Given the description of an element on the screen output the (x, y) to click on. 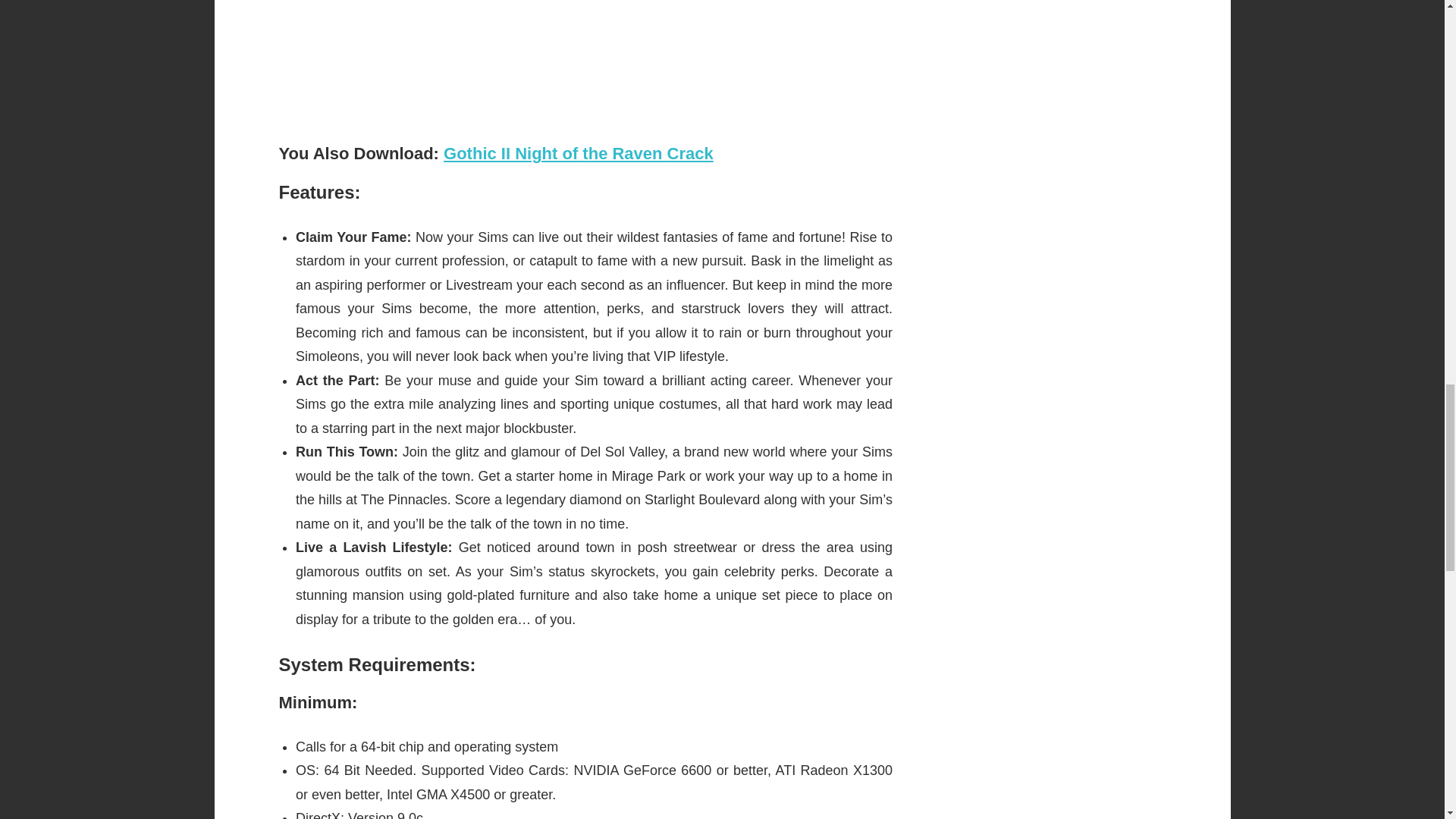
Gothic II Night of the Raven Crack (578, 153)
